Given the description of an element on the screen output the (x, y) to click on. 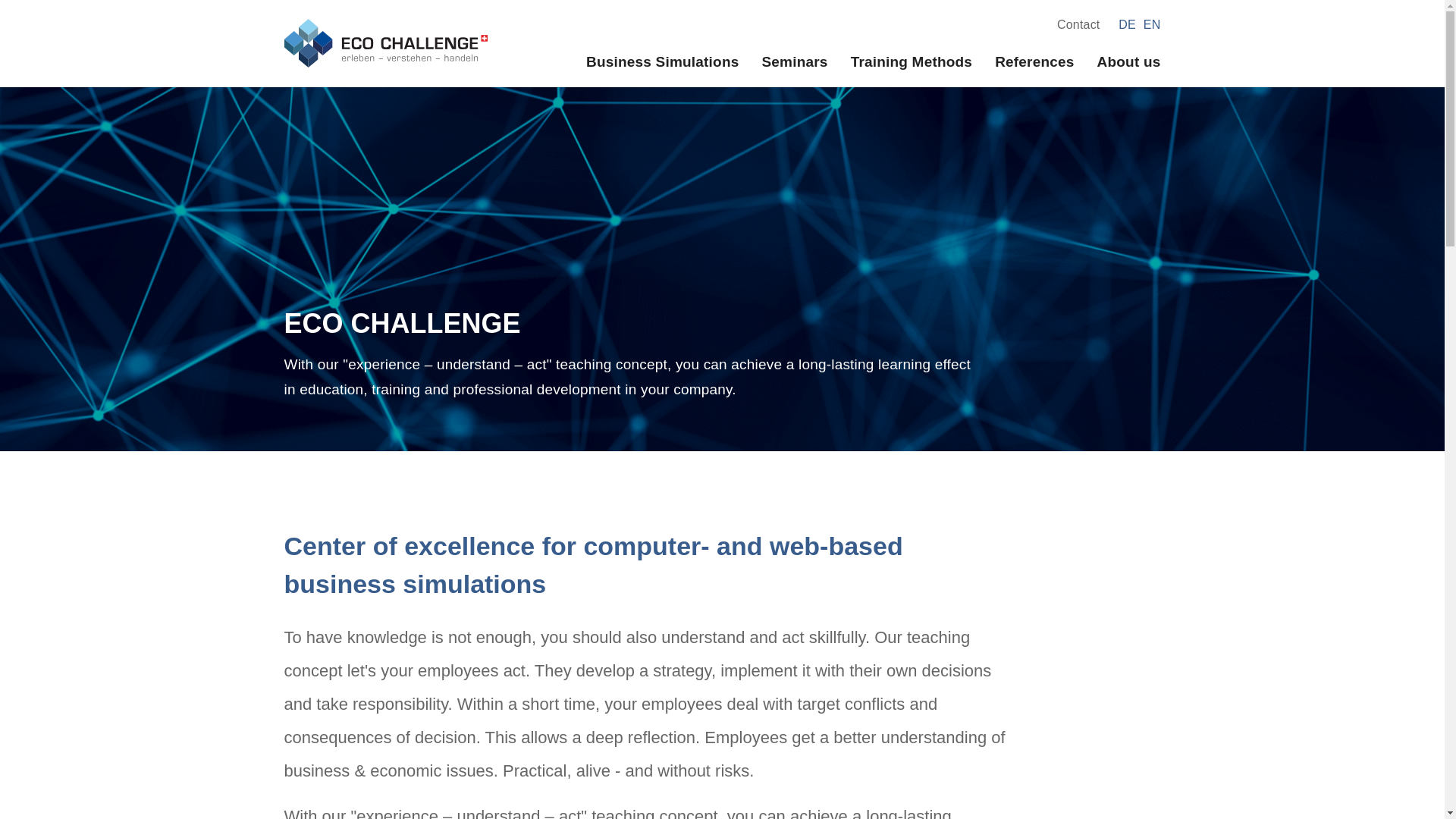
References (1034, 61)
DE (1126, 24)
Seminars (794, 61)
Training Methods (911, 61)
Business Simulations (662, 61)
About us (1128, 61)
Contact (1078, 24)
EN (1151, 24)
